Given the description of an element on the screen output the (x, y) to click on. 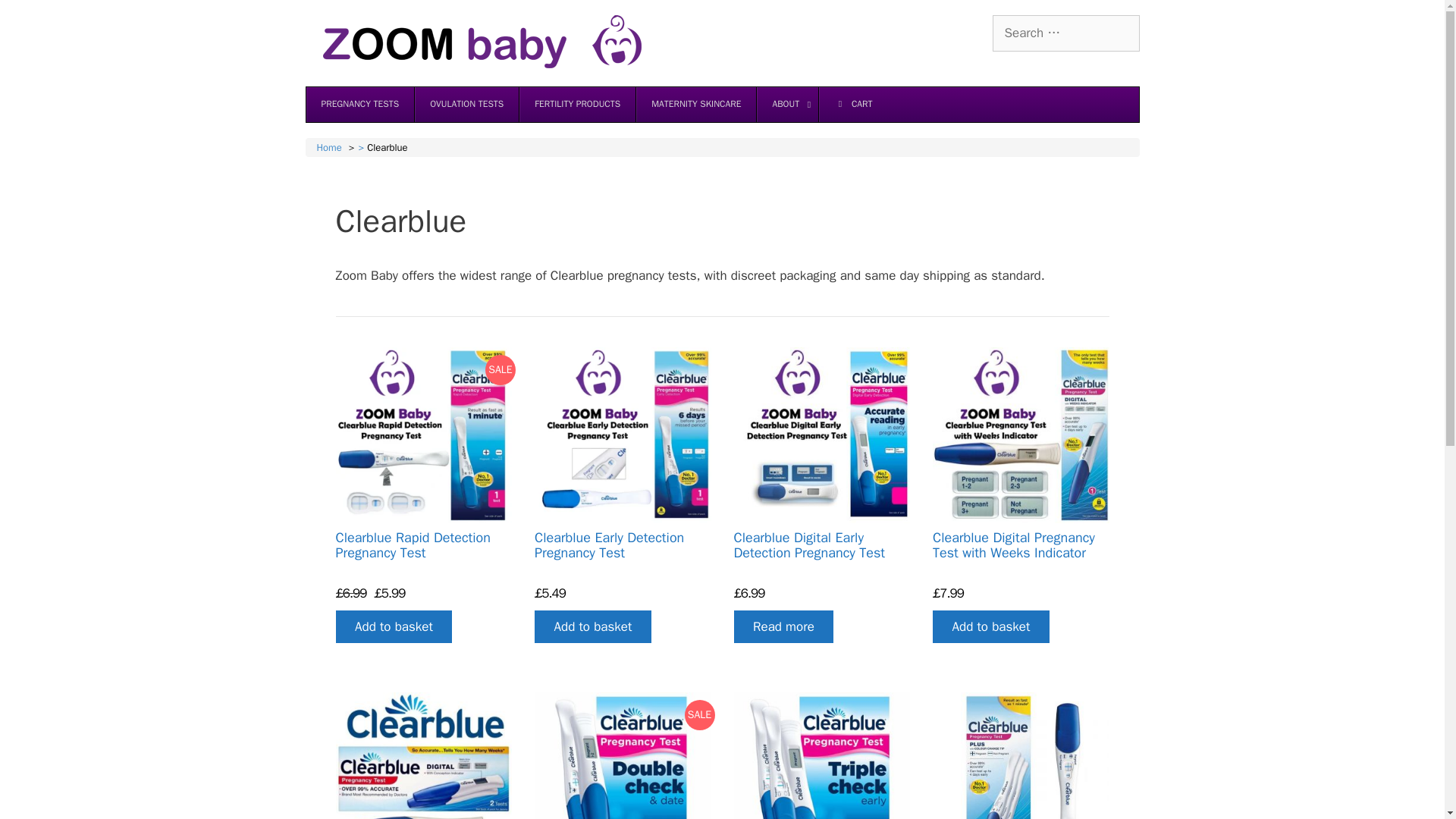
OVULATION TESTS (465, 104)
Clearblue Rapid Detection Pregnancy Test (412, 545)
Add to basket (592, 626)
CART (852, 104)
Search for: (1064, 33)
MATERNITY SKINCARE (694, 104)
Clearblue Digital Early Detection Pregnancy Test (809, 545)
Add to basket (392, 626)
PREGNANCY TESTS (359, 104)
FERTILITY PRODUCTS (576, 104)
